Given the description of an element on the screen output the (x, y) to click on. 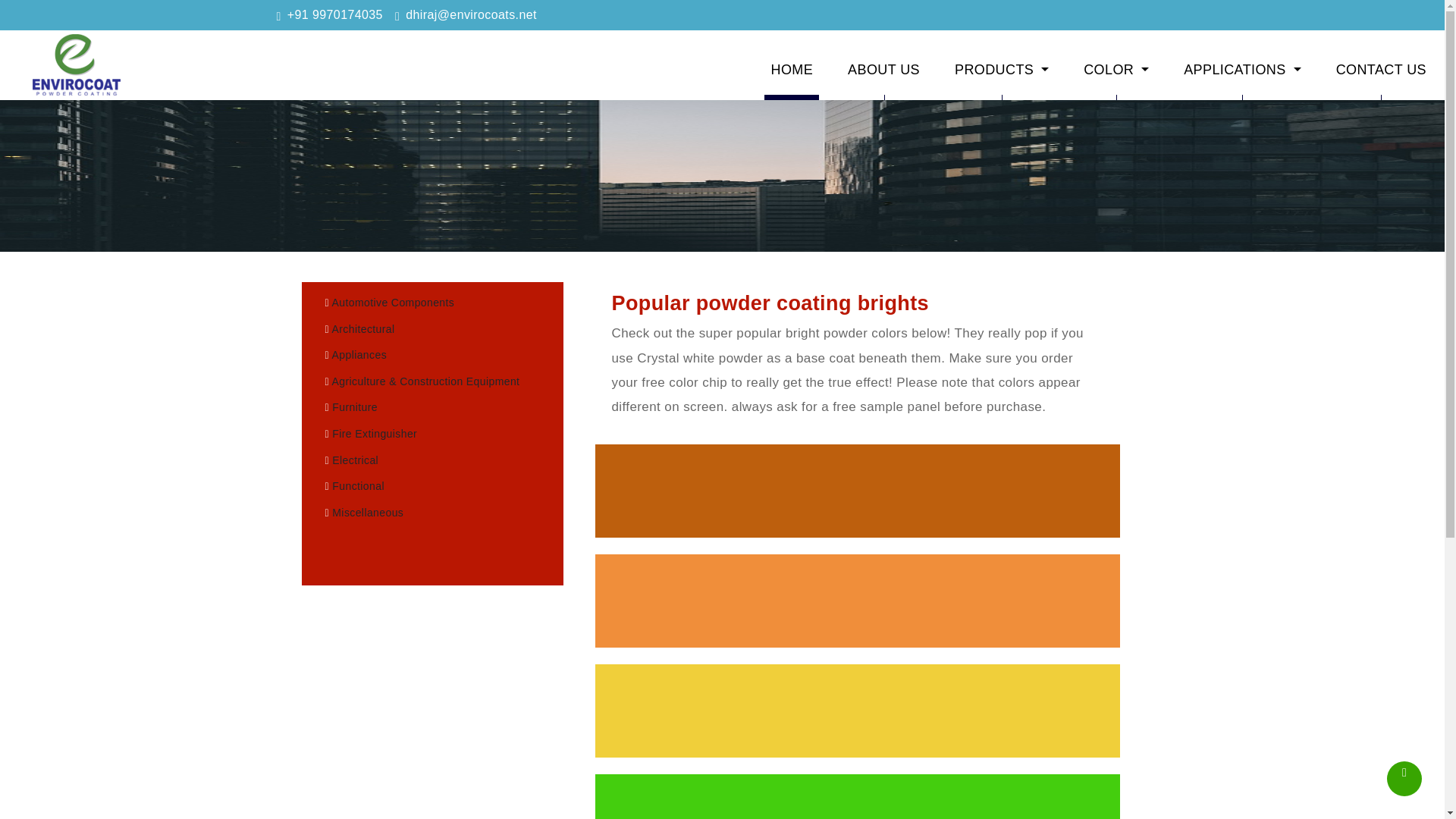
Automotive Components (389, 302)
Appliances (355, 354)
Architectural (359, 328)
PRODUCTS (1001, 69)
APPLICATIONS (1241, 69)
COLOR (1115, 69)
